Given the description of an element on the screen output the (x, y) to click on. 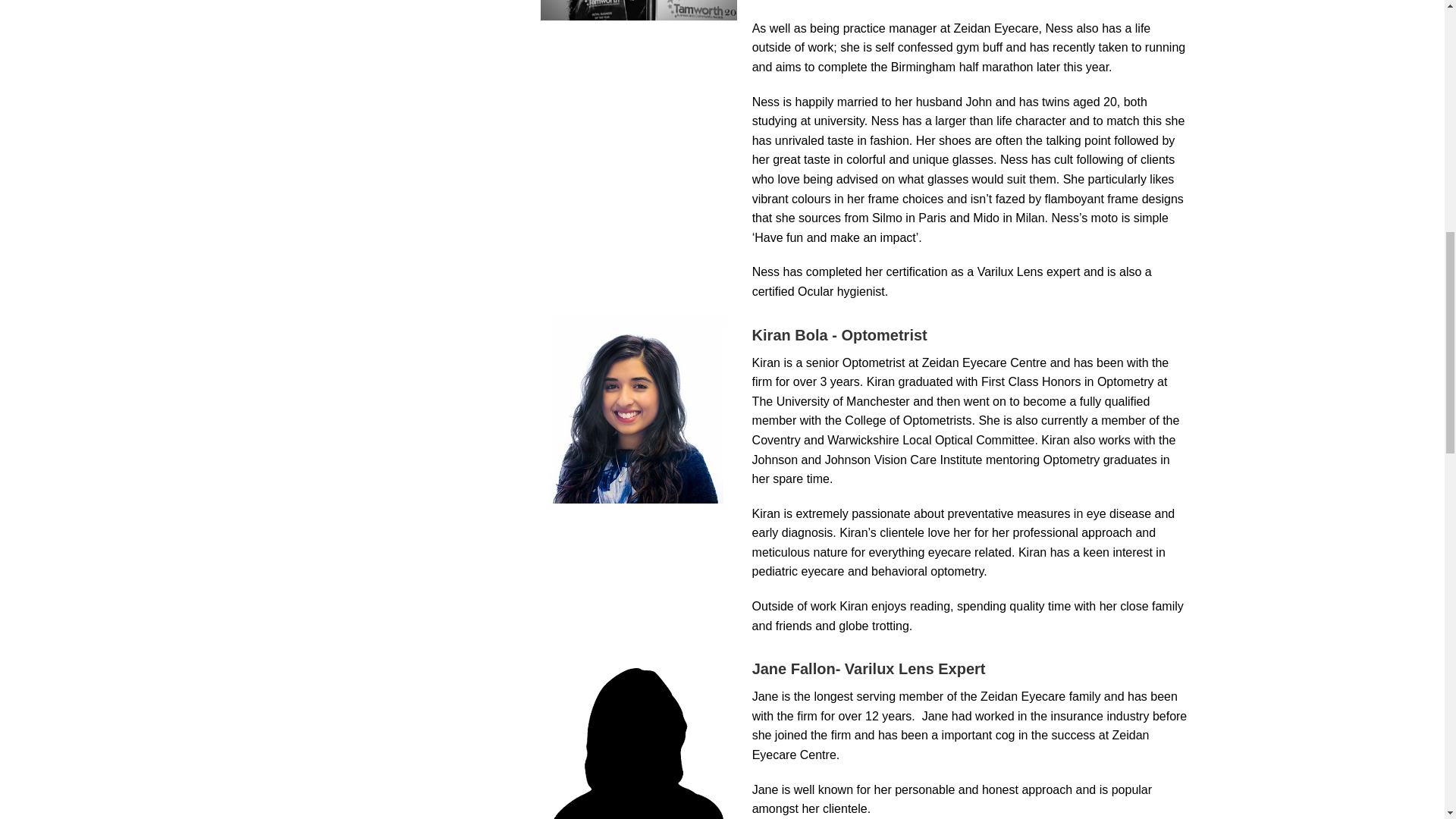
Kiran Photo (638, 409)
female-1 (638, 734)
WhatsApp Image 2020-04-10 at 16.04.17 (638, 10)
